Given the description of an element on the screen output the (x, y) to click on. 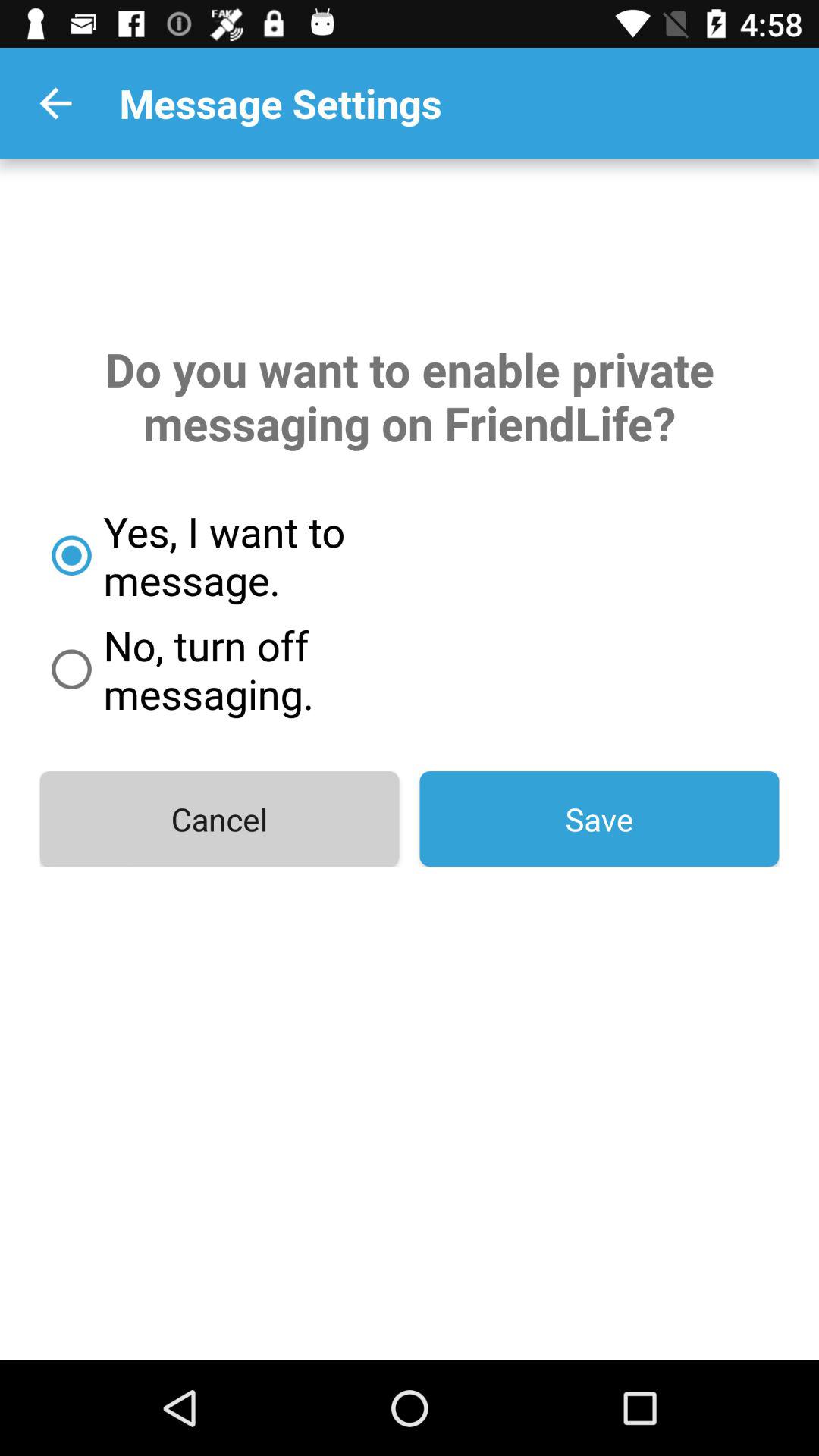
scroll until save icon (599, 818)
